Given the description of an element on the screen output the (x, y) to click on. 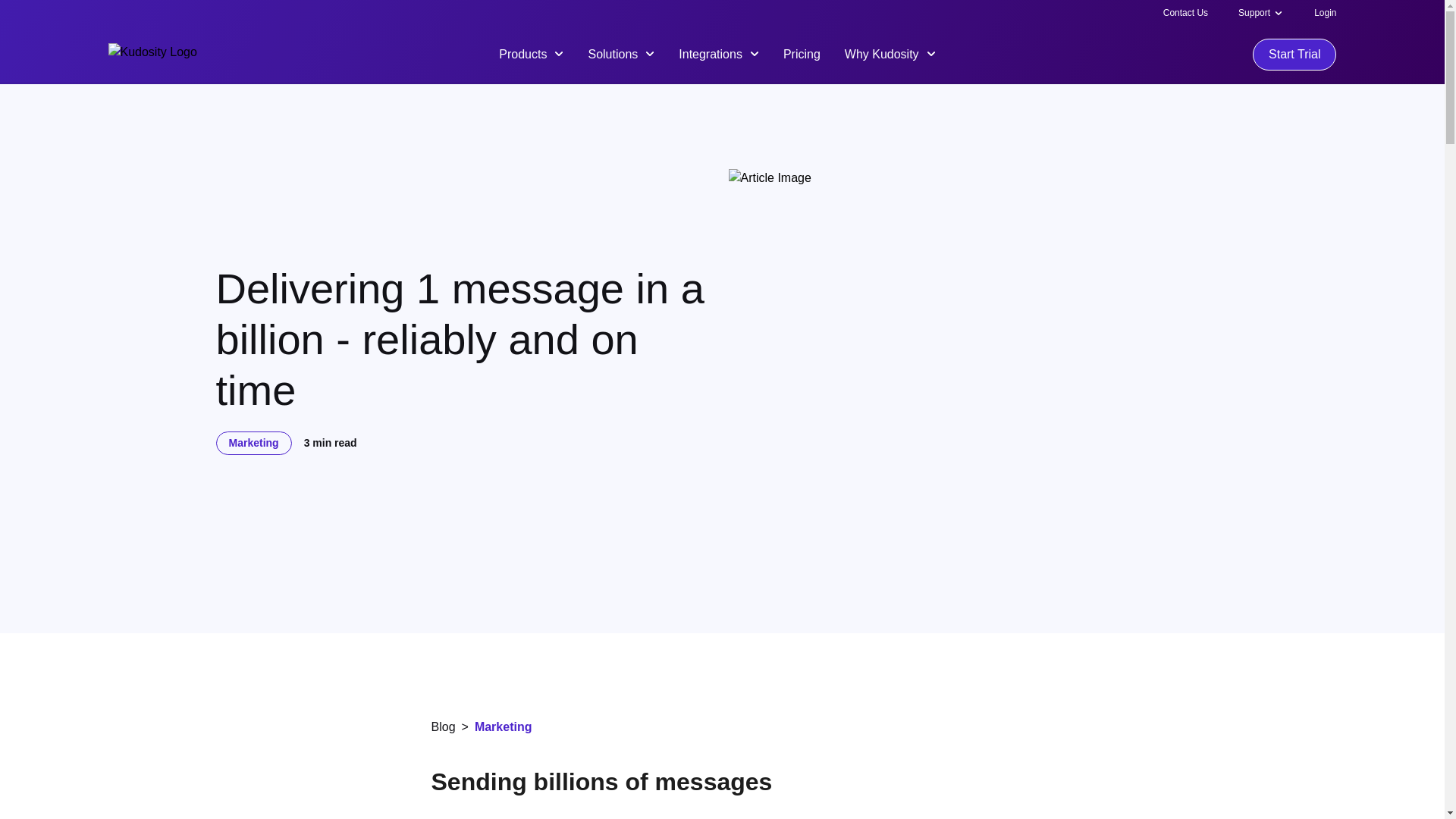
Support (1254, 12)
Solutions (620, 54)
Login (1325, 12)
Products (531, 54)
Kudosity (151, 54)
Contact Us (1185, 12)
